Given the description of an element on the screen output the (x, y) to click on. 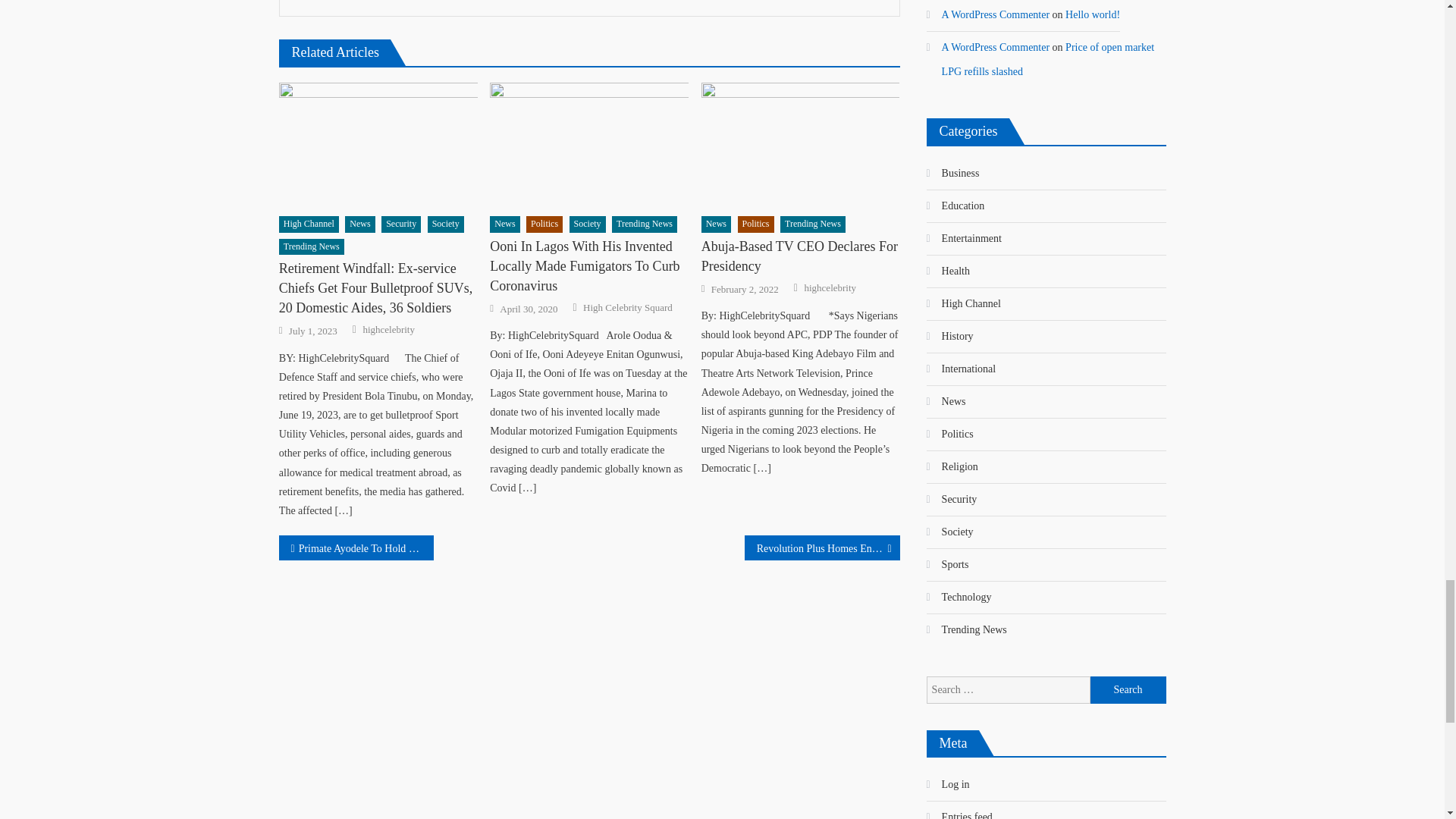
Search (1128, 689)
Search (1128, 689)
Abuja-Based TV CEO Declares For Presidency (800, 144)
